Given the description of an element on the screen output the (x, y) to click on. 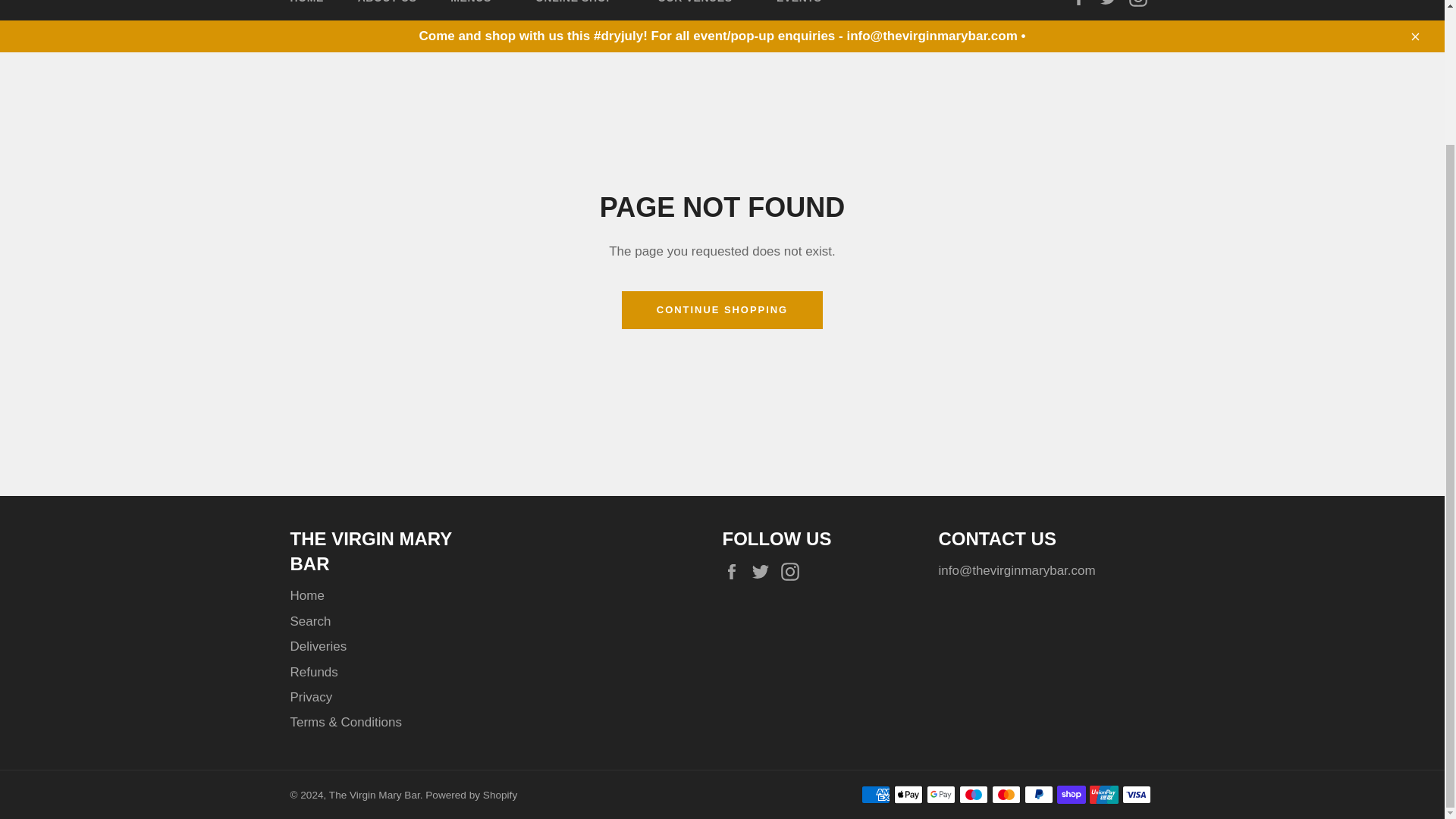
The Virgin Mary Bar on Twitter (764, 570)
ABOUT US (387, 10)
HOME (306, 10)
ONLINE SHOP (579, 10)
The Virgin Mary Bar on Instagram (793, 570)
The Virgin Mary Bar on Twitter (1112, 3)
The Virgin Mary Bar on Facebook (735, 570)
MENUS (475, 10)
The Virgin Mary Bar on Instagram (1141, 3)
The Virgin Mary Bar on Facebook (1083, 3)
